Given the description of an element on the screen output the (x, y) to click on. 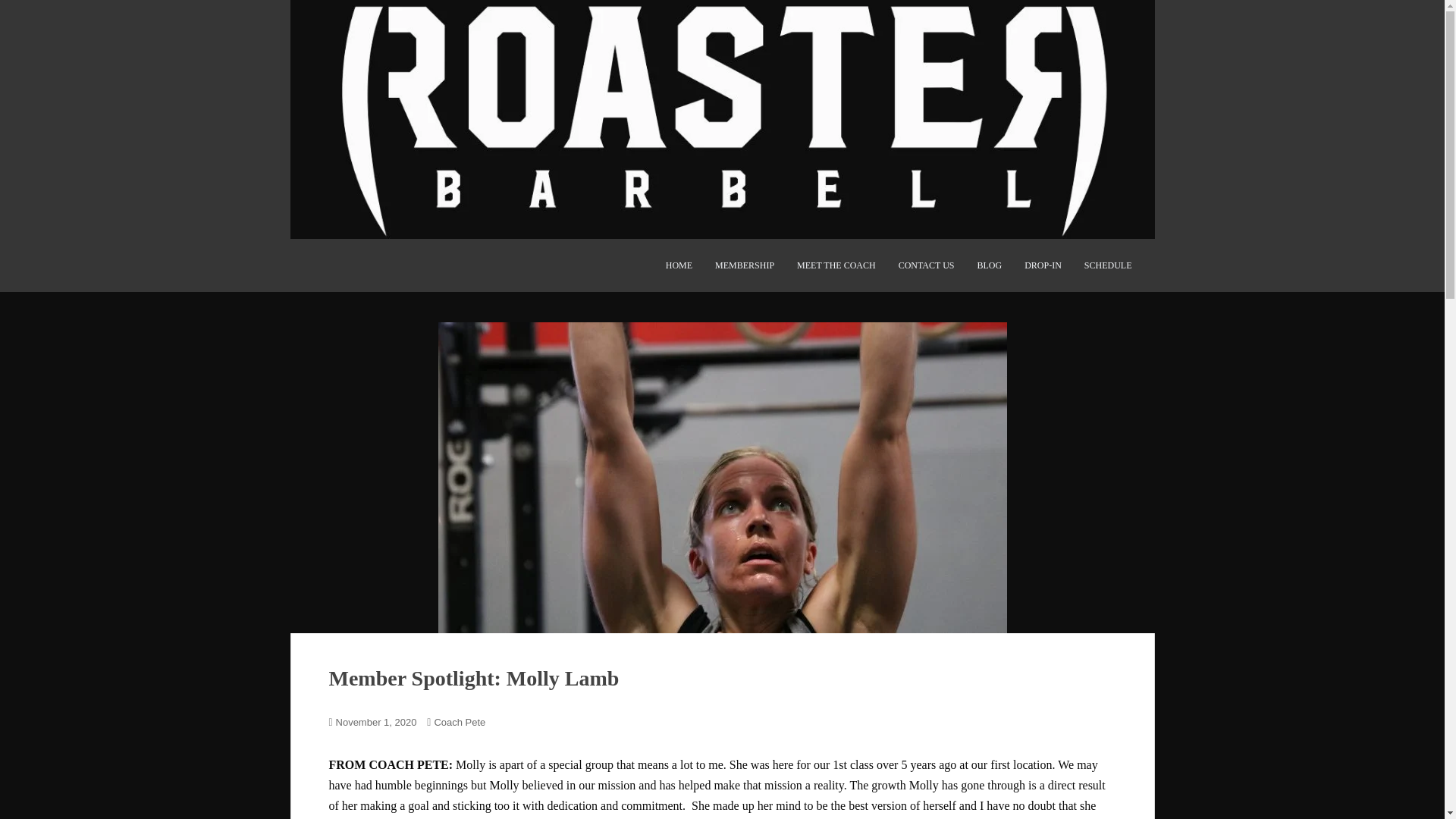
November 1, 2020 (376, 722)
MEET THE COACH (836, 265)
MEMBERSHIP (744, 265)
CONTACT US (926, 265)
DROP-IN (1043, 265)
Coach Pete (458, 722)
SCHEDULE (1108, 265)
